Given the description of an element on the screen output the (x, y) to click on. 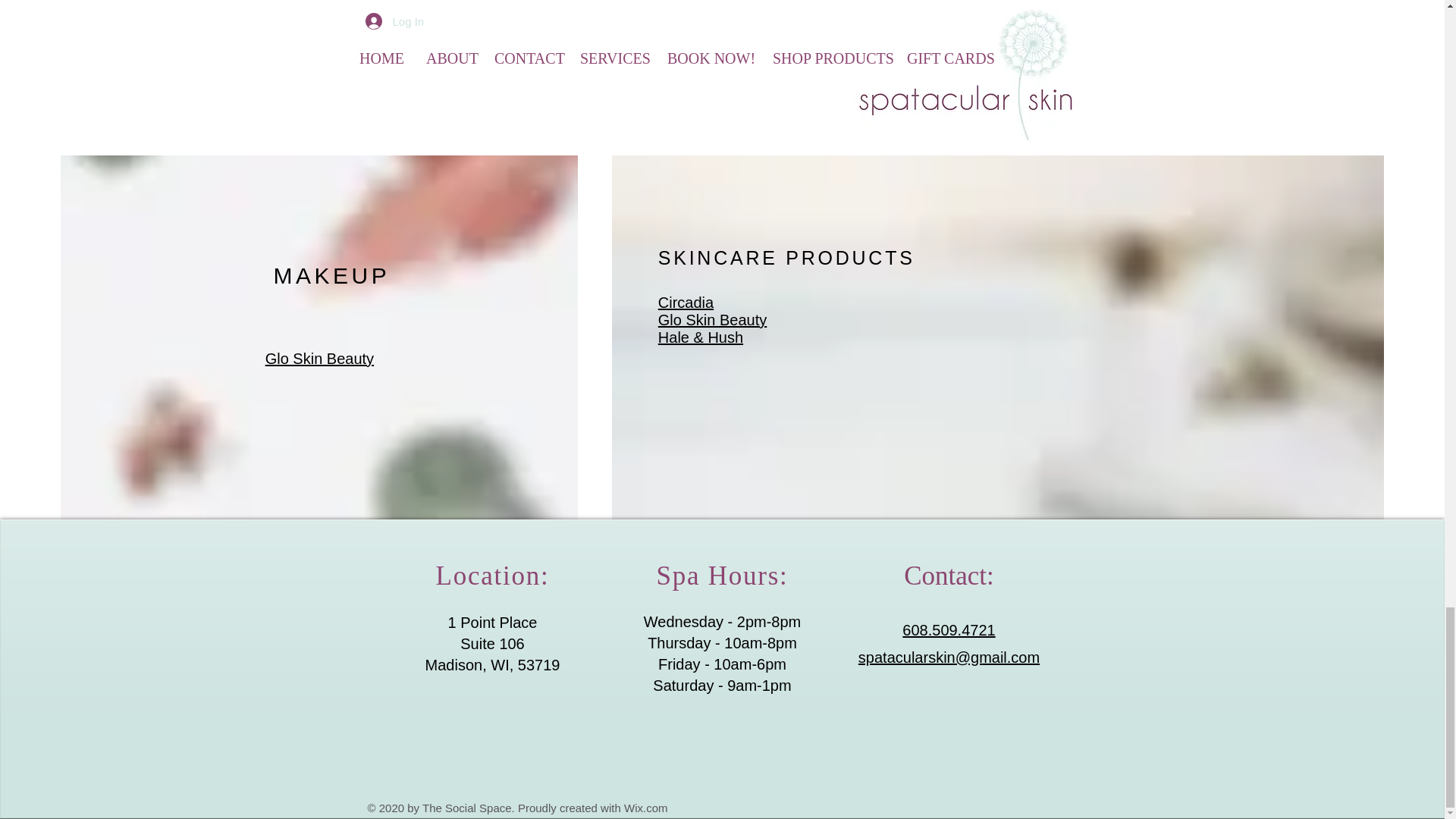
Glo Skin Beauty (712, 320)
Glo Skin Beauty (319, 358)
Circadia (685, 302)
Wix.com (646, 807)
608.509.4721 (948, 629)
